Given the description of an element on the screen output the (x, y) to click on. 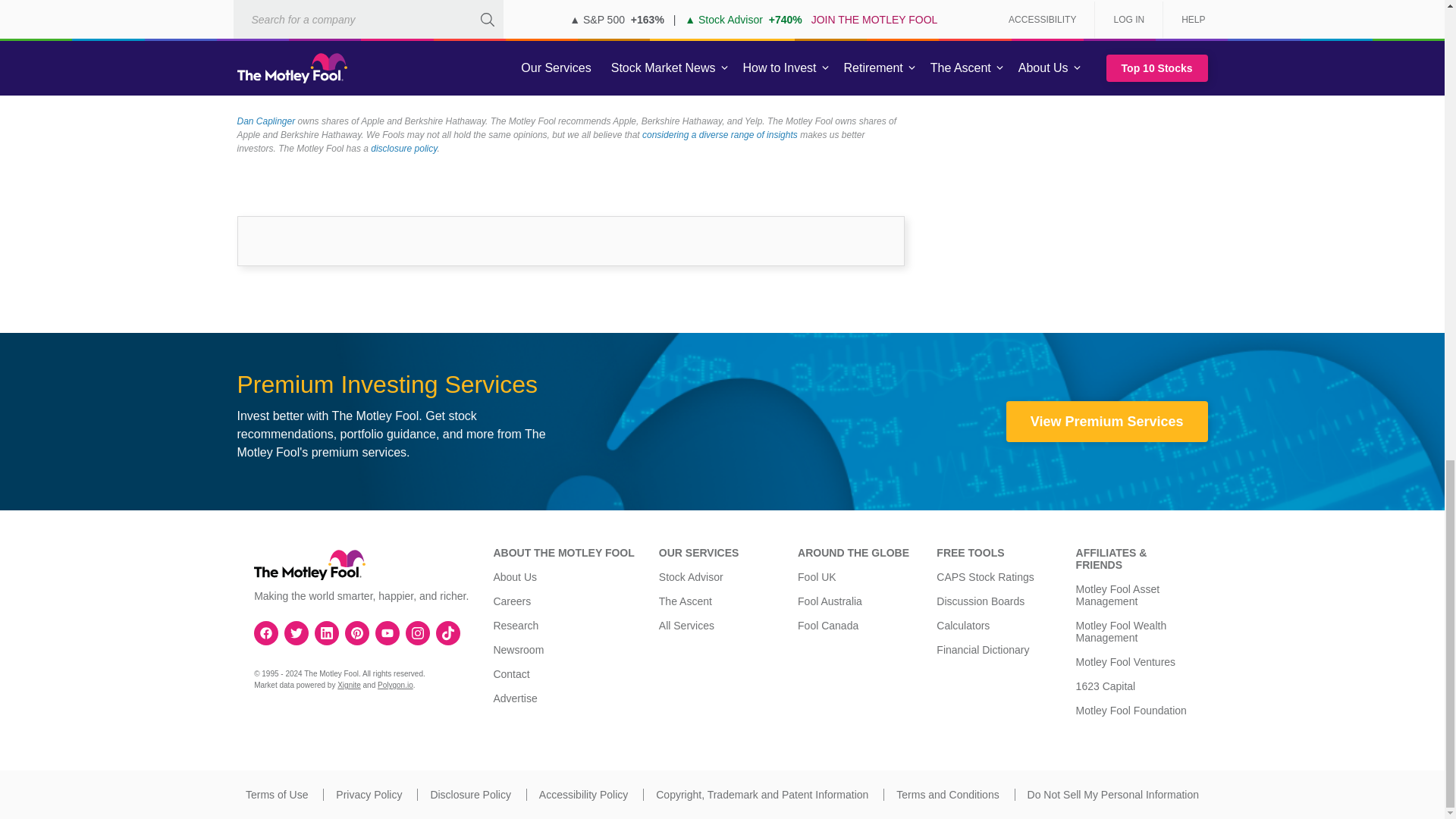
Privacy Policy (368, 794)
YouTube (387, 632)
Twitter (295, 632)
Terms and Conditions (947, 794)
Terms of Use (276, 794)
Instagram (417, 632)
Do Not Sell My Personal Information. (1112, 794)
Disclosure Policy (470, 794)
LinkedIn (326, 632)
Facebook (266, 632)
TikTok (448, 632)
Accessibility Policy (582, 794)
Copyright, Trademark and Patent Information (761, 794)
Pinterest (356, 632)
